Given the description of an element on the screen output the (x, y) to click on. 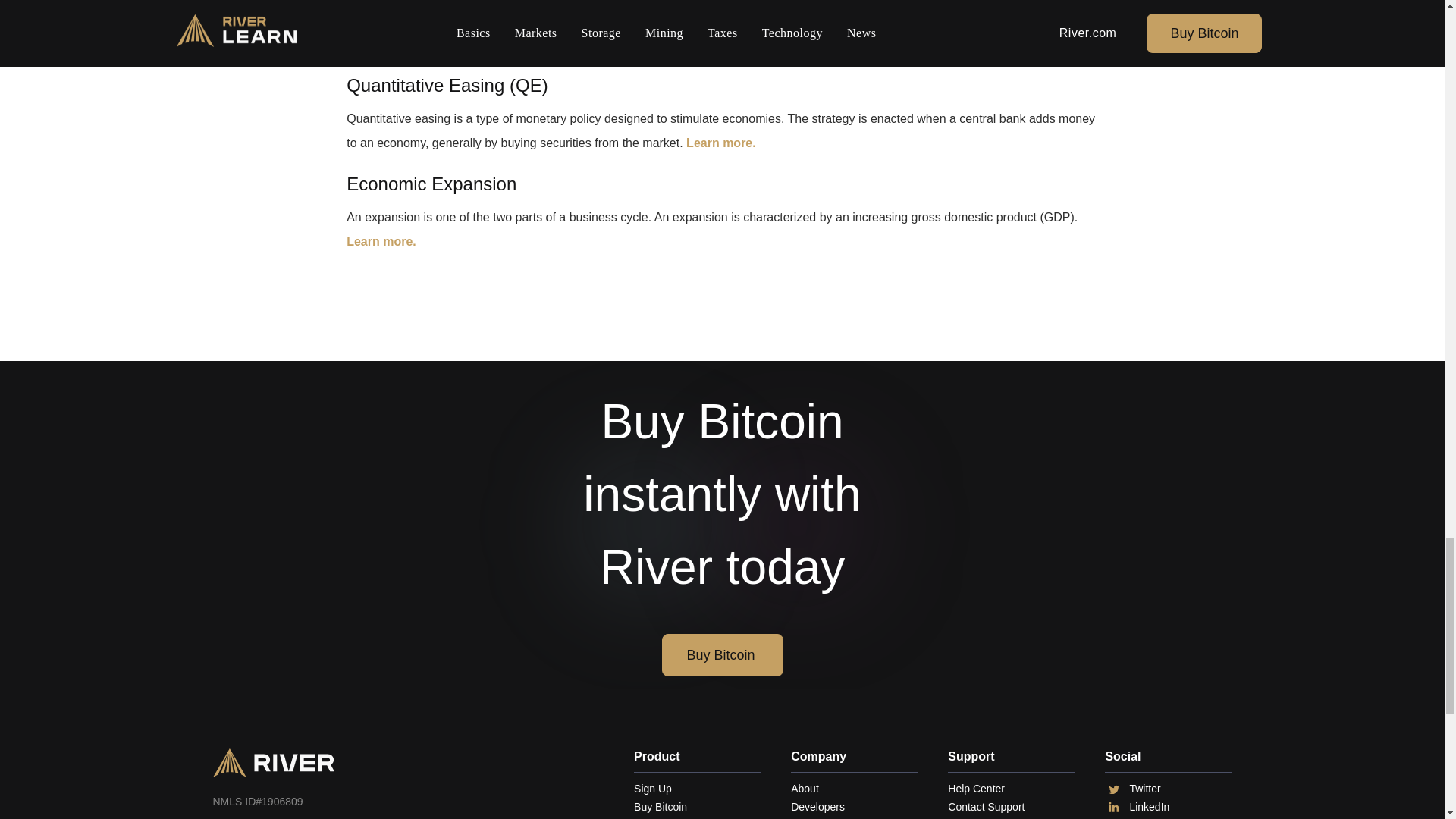
Zero Fees (696, 817)
Economic Expansion (431, 183)
Learn more. (704, 43)
Sign Up (696, 789)
Learn more. (381, 241)
Learn more. (720, 142)
Buy Bitcoin (722, 654)
About (853, 789)
Buy Bitcoin (696, 807)
